Given the description of an element on the screen output the (x, y) to click on. 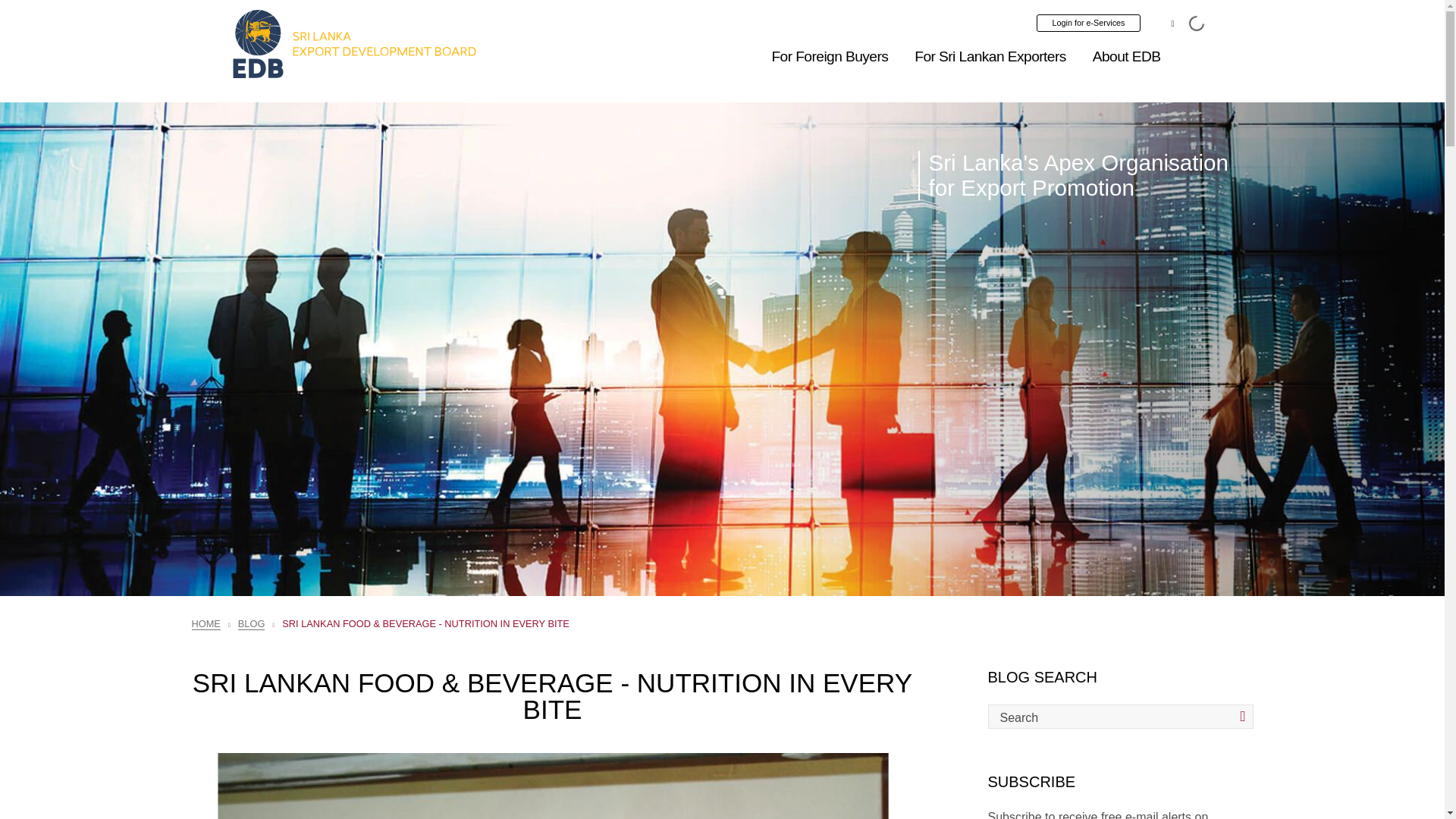
Login for e-Services (1088, 22)
For Foreign Buyers (829, 56)
HOME (204, 623)
For Sri Lankan Exporters (989, 56)
Login for e-Services (1088, 22)
BLOG (251, 623)
Export Development Board  (354, 43)
About EDB (1126, 56)
